Given the description of an element on the screen output the (x, y) to click on. 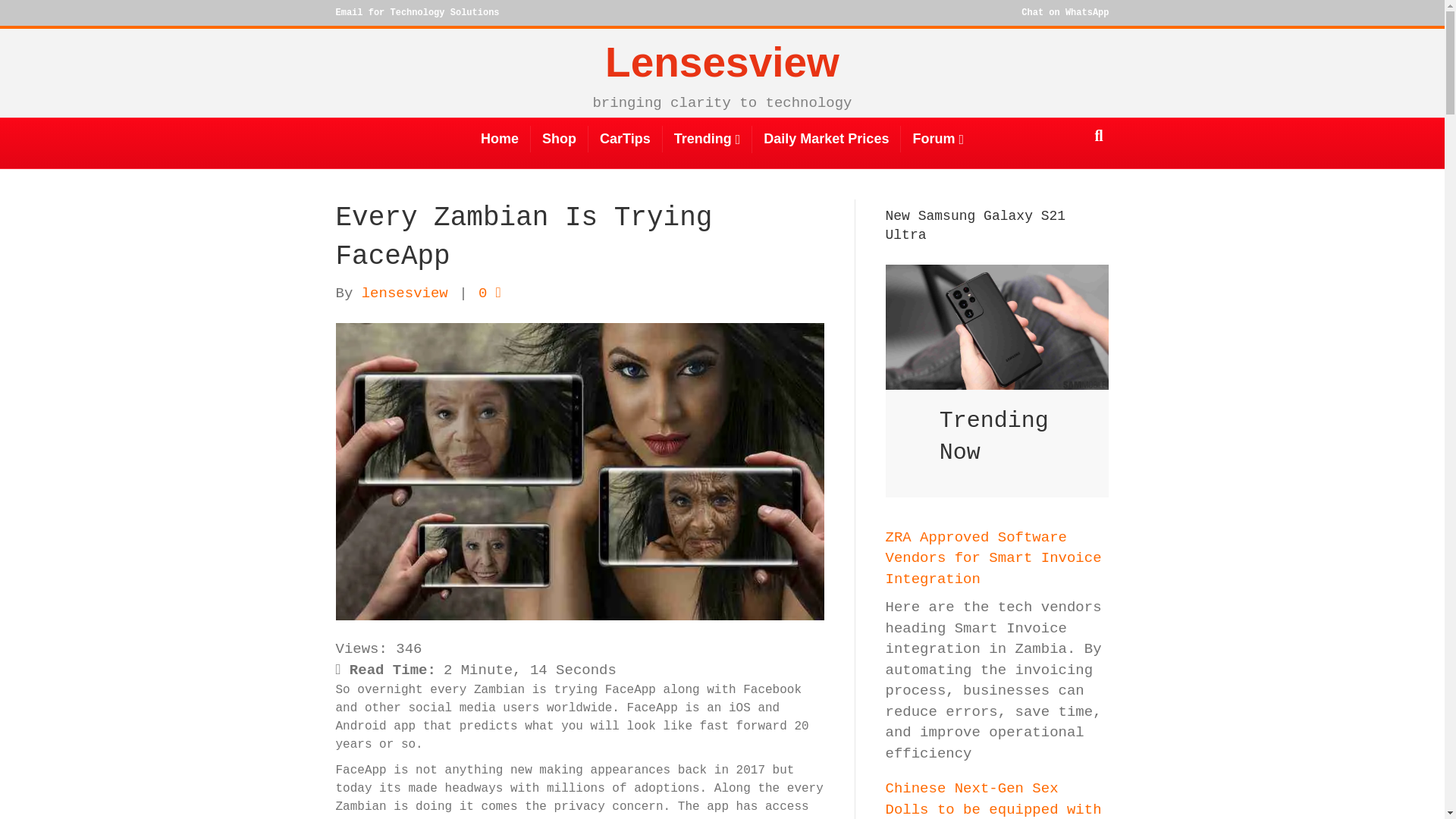
0 (489, 293)
Home (499, 139)
CarTips (625, 139)
Chat on WhatsApp (1065, 12)
Shop (559, 139)
Lensesview (721, 62)
Email for Technology Solutions (416, 12)
Trending (707, 139)
IT community forum (938, 139)
Daily Market Prices (826, 139)
lensesview (404, 293)
Forum (938, 139)
